Given the description of an element on the screen output the (x, y) to click on. 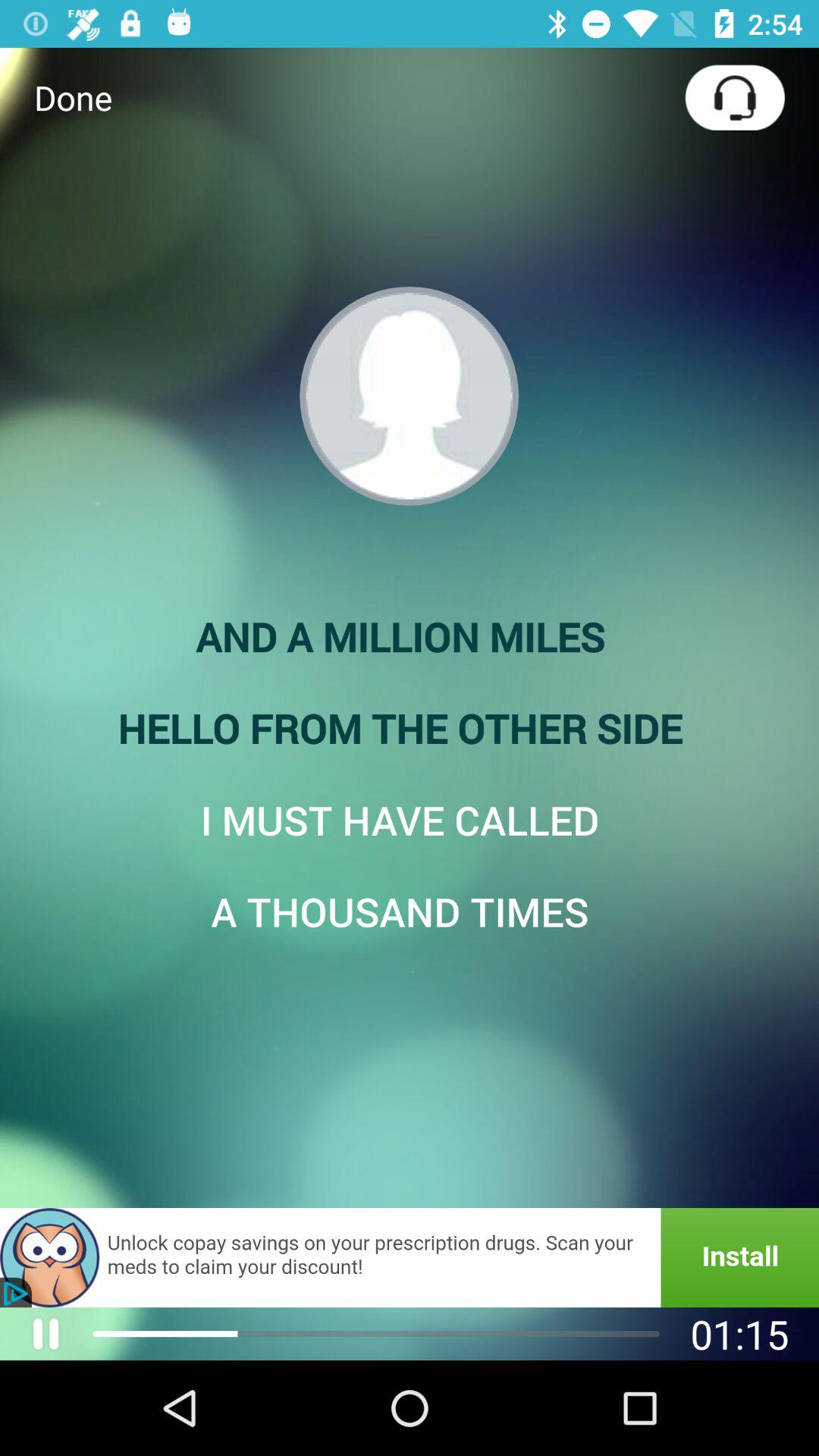
turn off the item above 01:16 item (409, 1257)
